Given the description of an element on the screen output the (x, y) to click on. 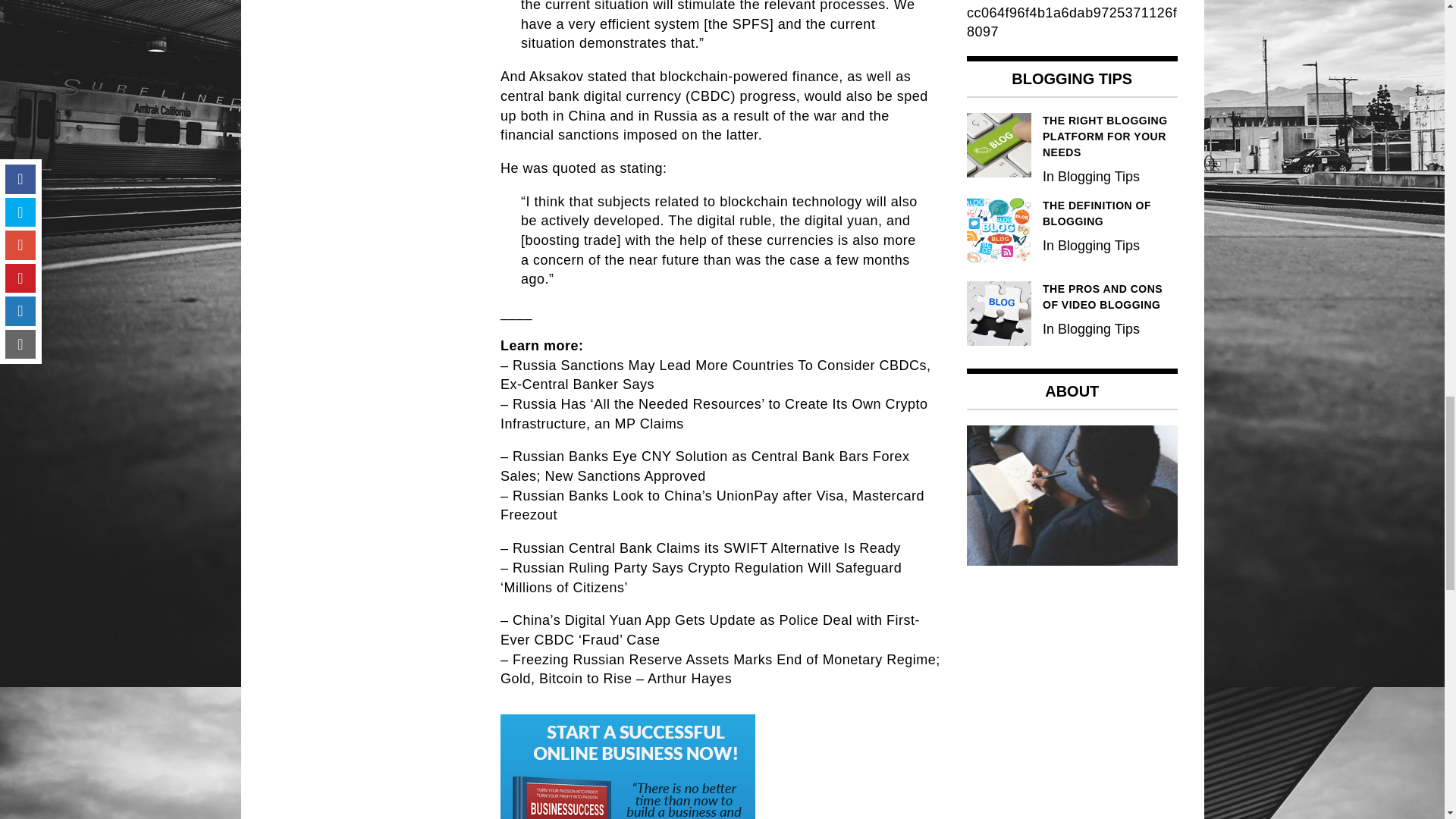
How to Start an Online Business (627, 766)
